Given the description of an element on the screen output the (x, y) to click on. 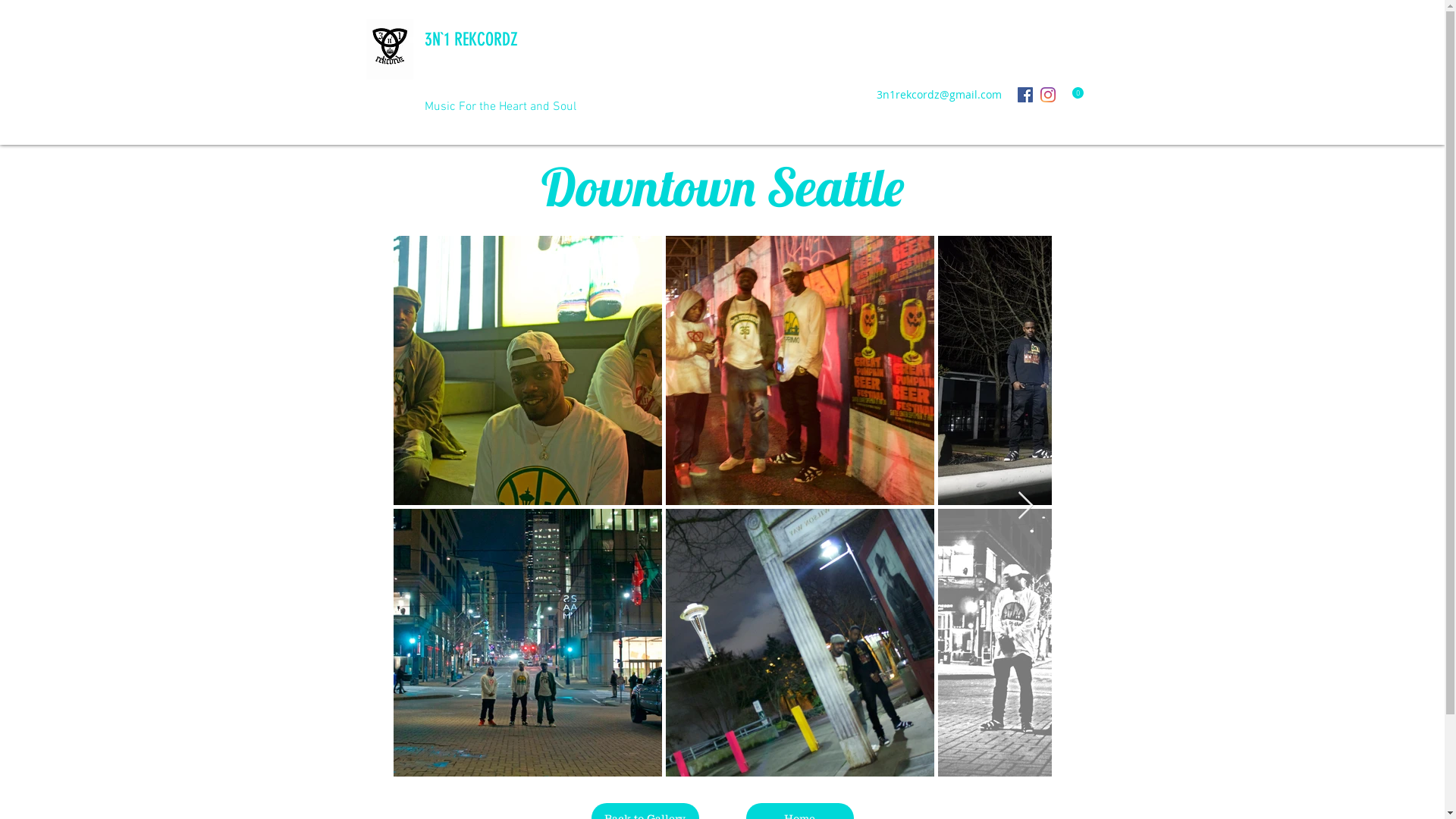
3n1rekcordz@gmail.com Element type: text (938, 94)
0 Element type: text (1071, 94)
